Given the description of an element on the screen output the (x, y) to click on. 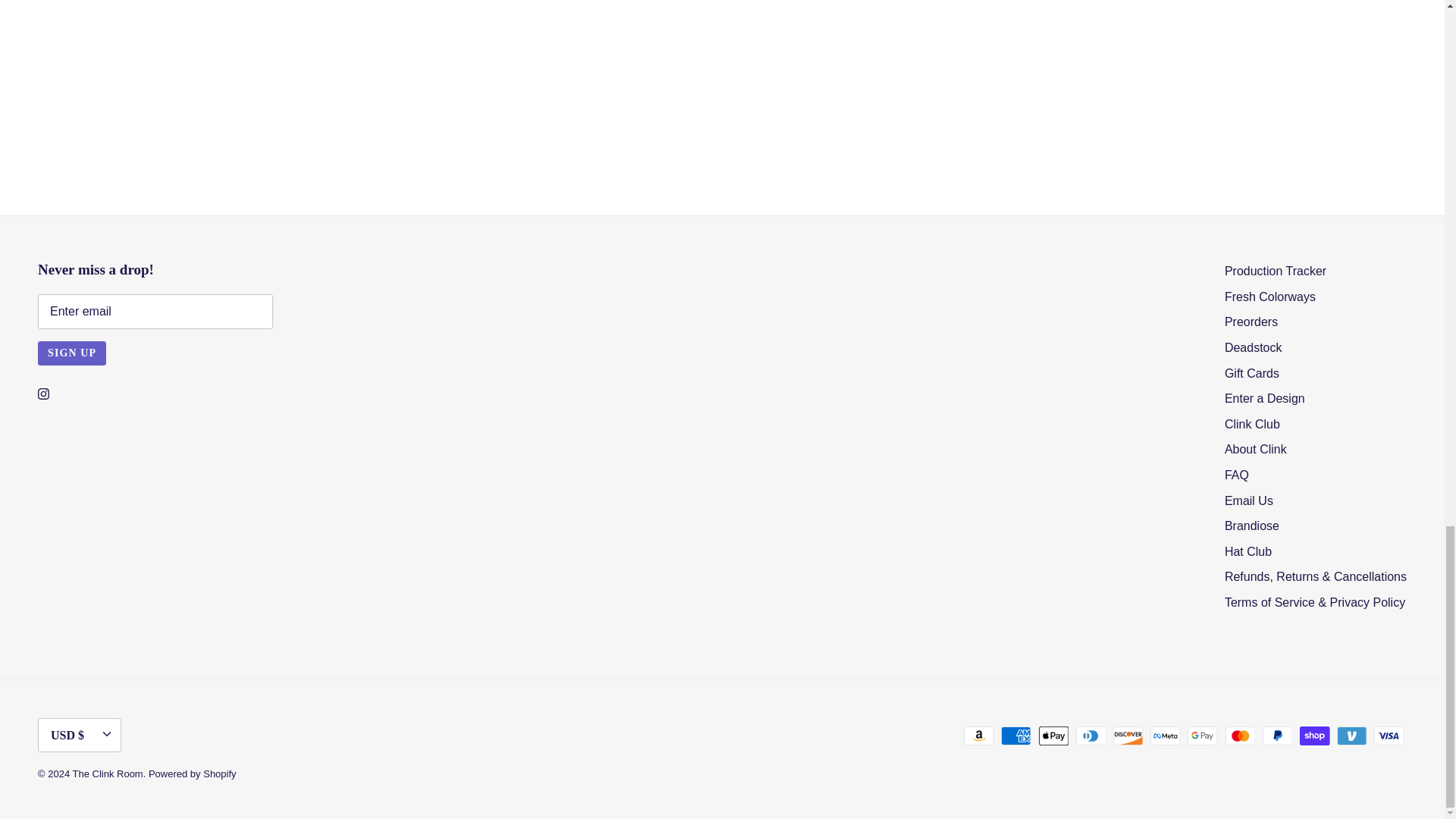
Mastercard (1240, 735)
Visa (1388, 735)
Shop Pay (1314, 735)
Amazon (978, 735)
Instagram (43, 393)
American Express (1015, 735)
Google Pay (1202, 735)
PayPal (1277, 735)
Discover (1127, 735)
Apple Pay (1053, 735)
